Given the description of an element on the screen output the (x, y) to click on. 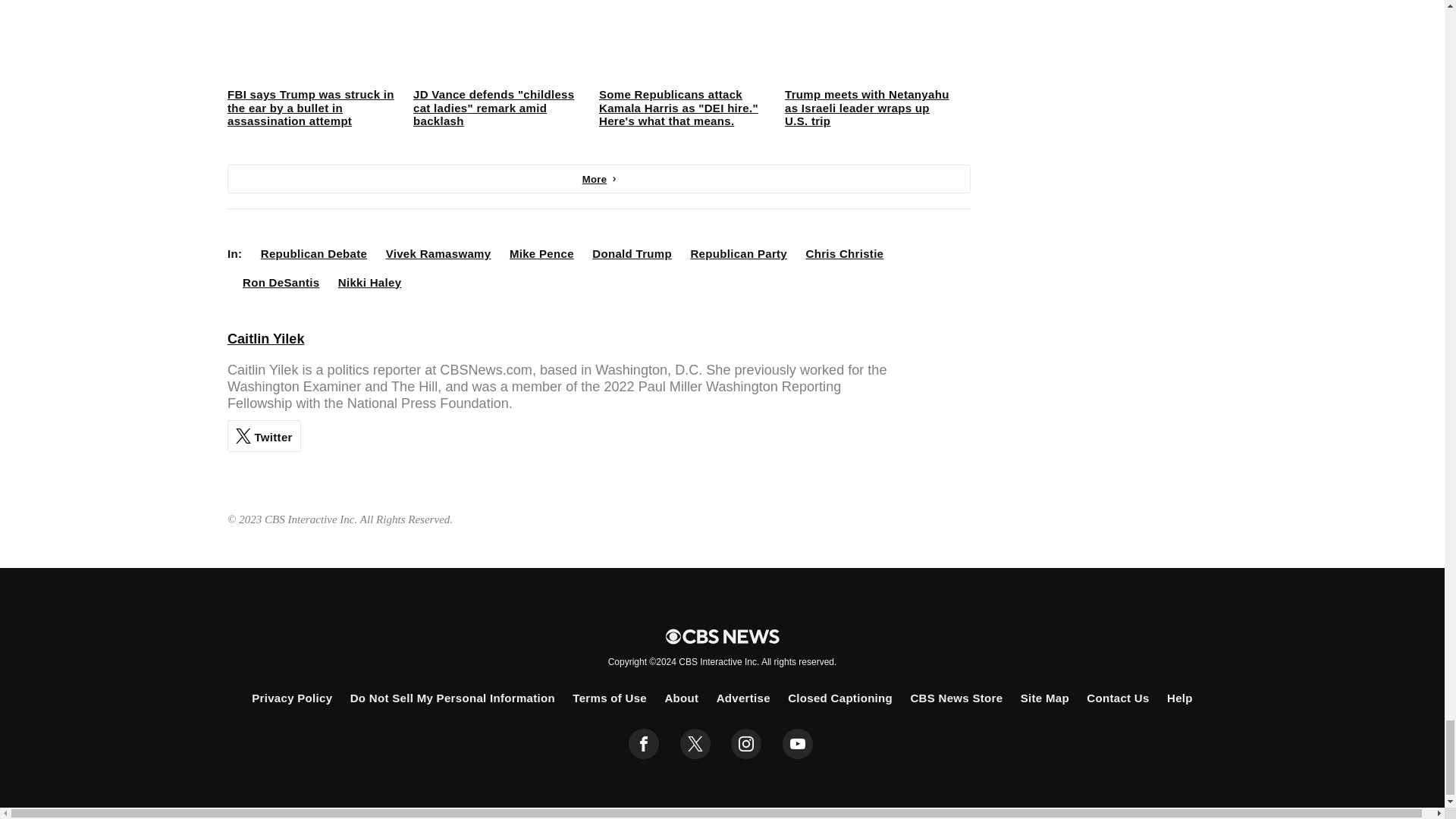
facebook (643, 743)
twitter (694, 743)
instagram (745, 743)
youtube (797, 743)
